Given the description of an element on the screen output the (x, y) to click on. 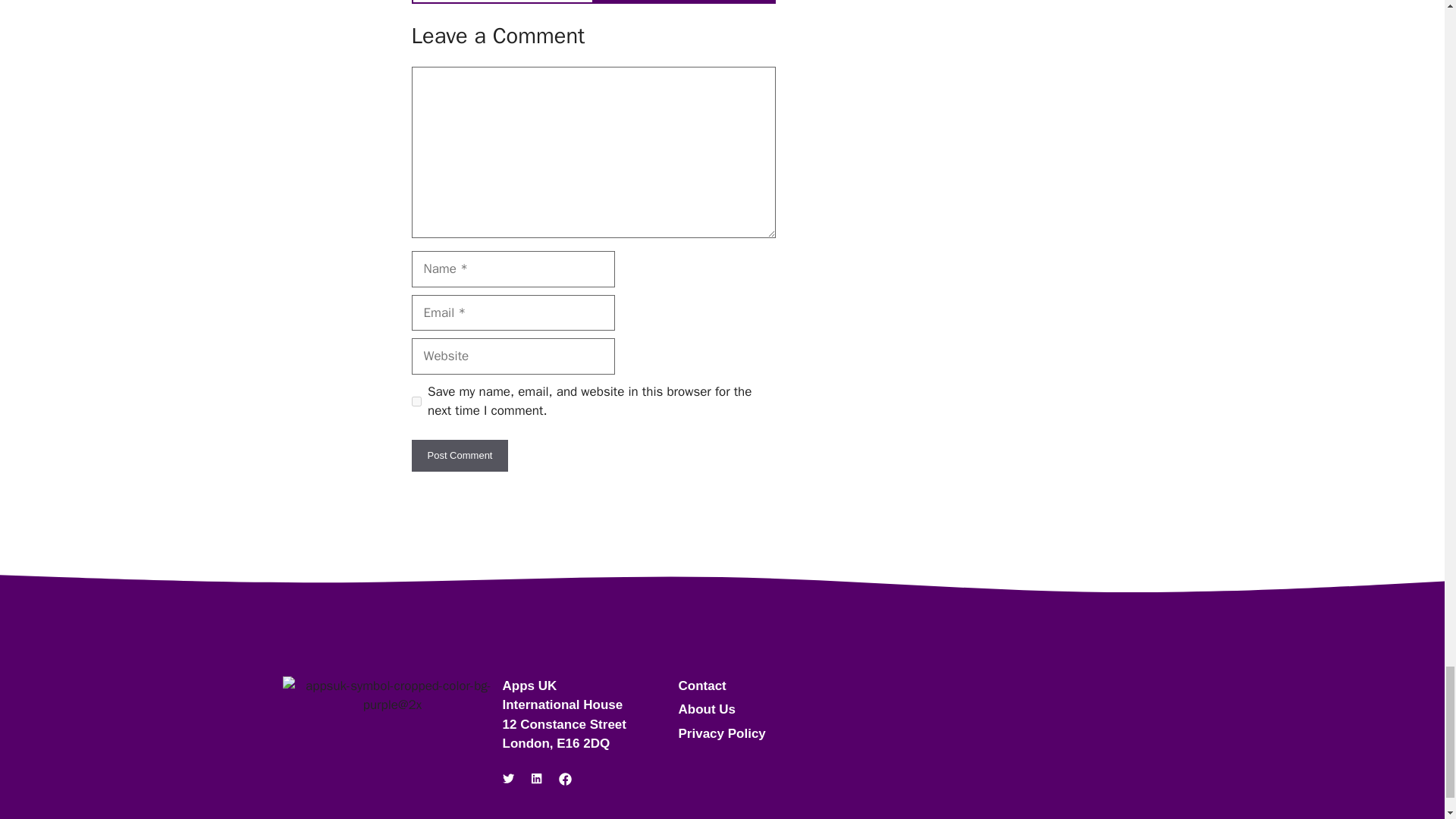
Post Comment (459, 455)
yes (415, 401)
Post Comment (459, 455)
